Given the description of an element on the screen output the (x, y) to click on. 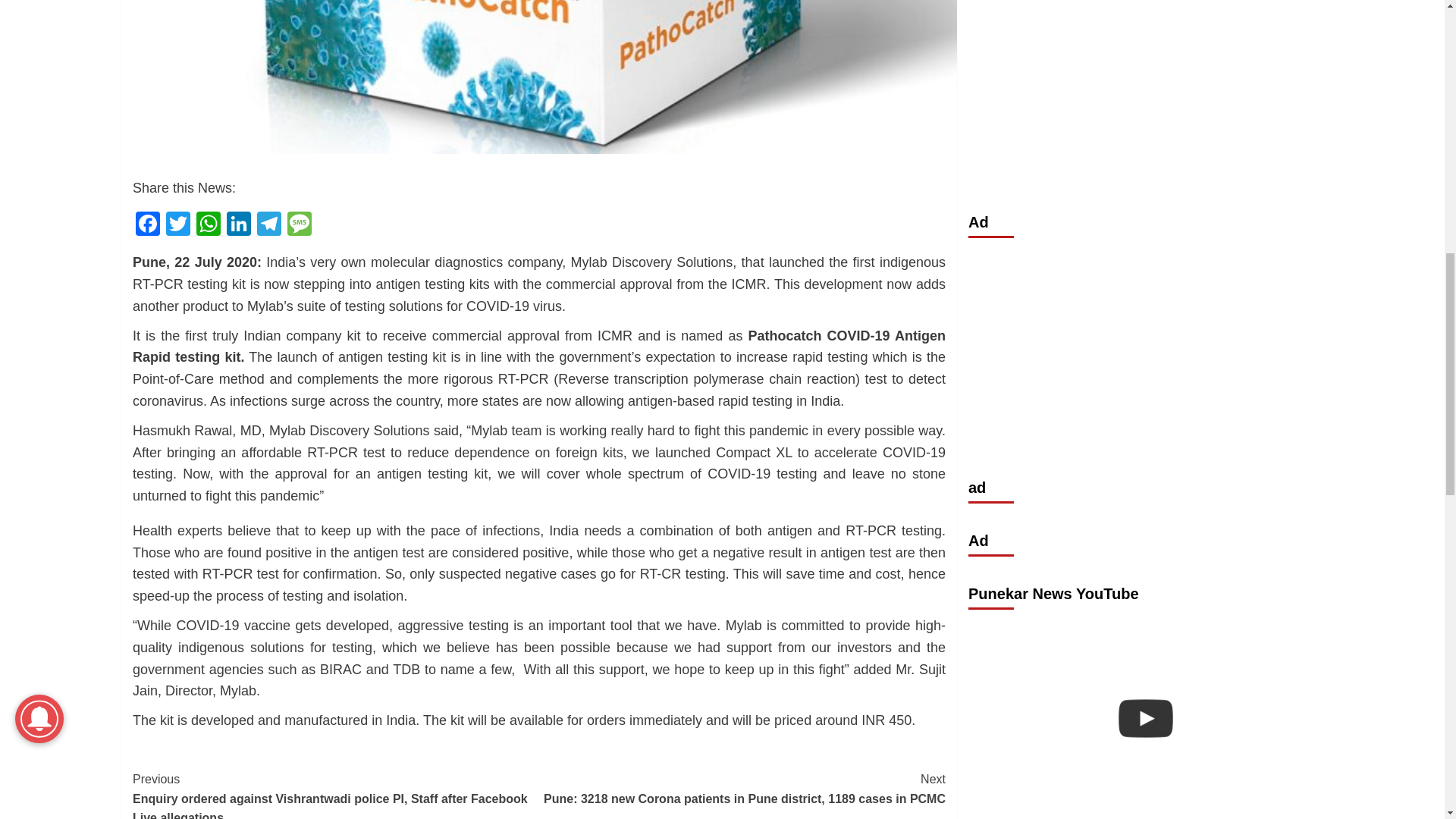
Message (298, 225)
WhatsApp (208, 225)
Advertisement (1145, 78)
Telegram (268, 225)
Twitter (178, 225)
Twitter (178, 225)
LinkedIn (238, 225)
Telegram (268, 225)
Facebook (147, 225)
LinkedIn (238, 225)
Facebook (147, 225)
WhatsApp (208, 225)
